Given the description of an element on the screen output the (x, y) to click on. 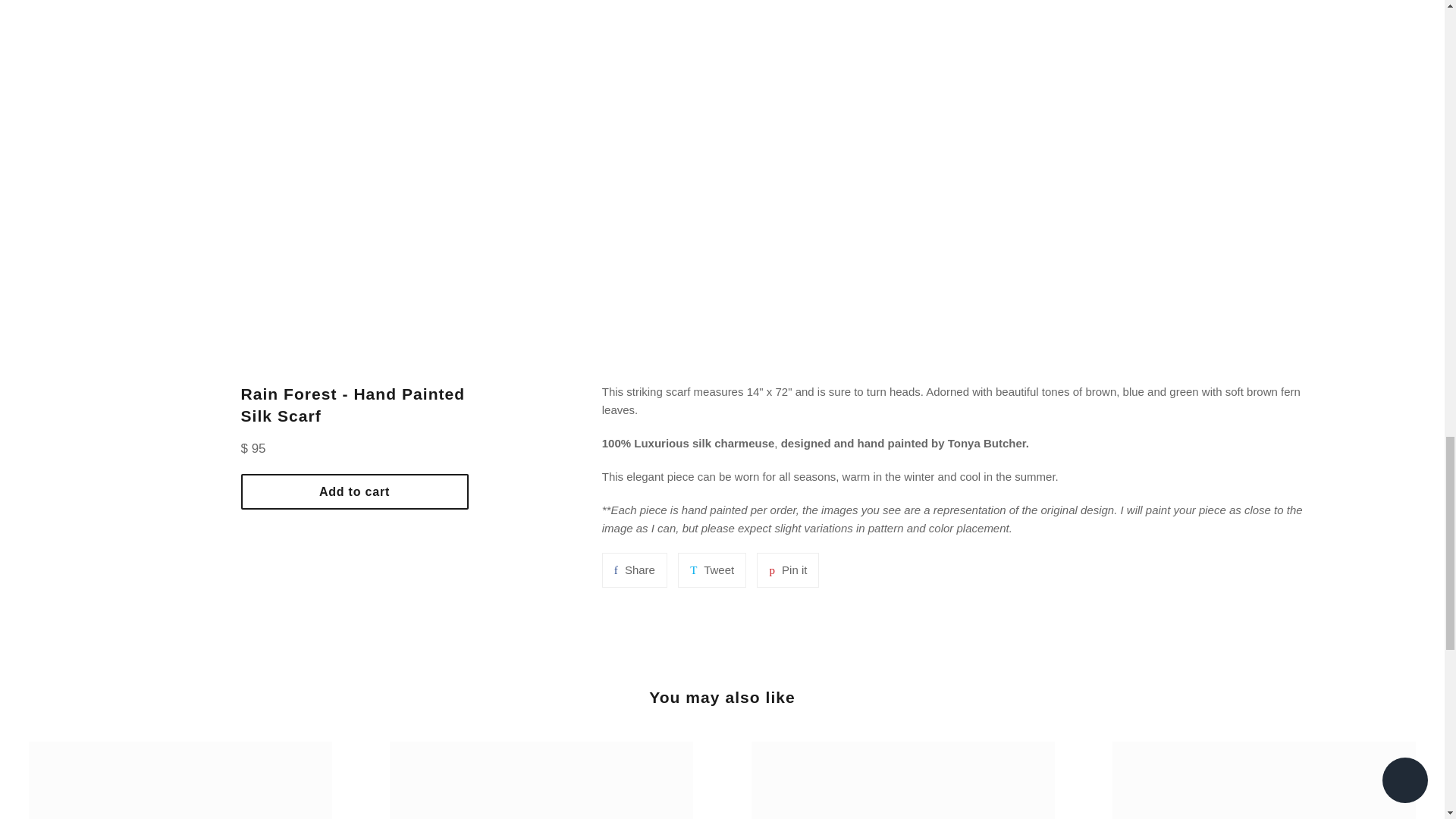
Add to cart (711, 570)
Tweet on Twitter (634, 570)
Pin on Pinterest (354, 491)
Share on Facebook (787, 570)
